Given the description of an element on the screen output the (x, y) to click on. 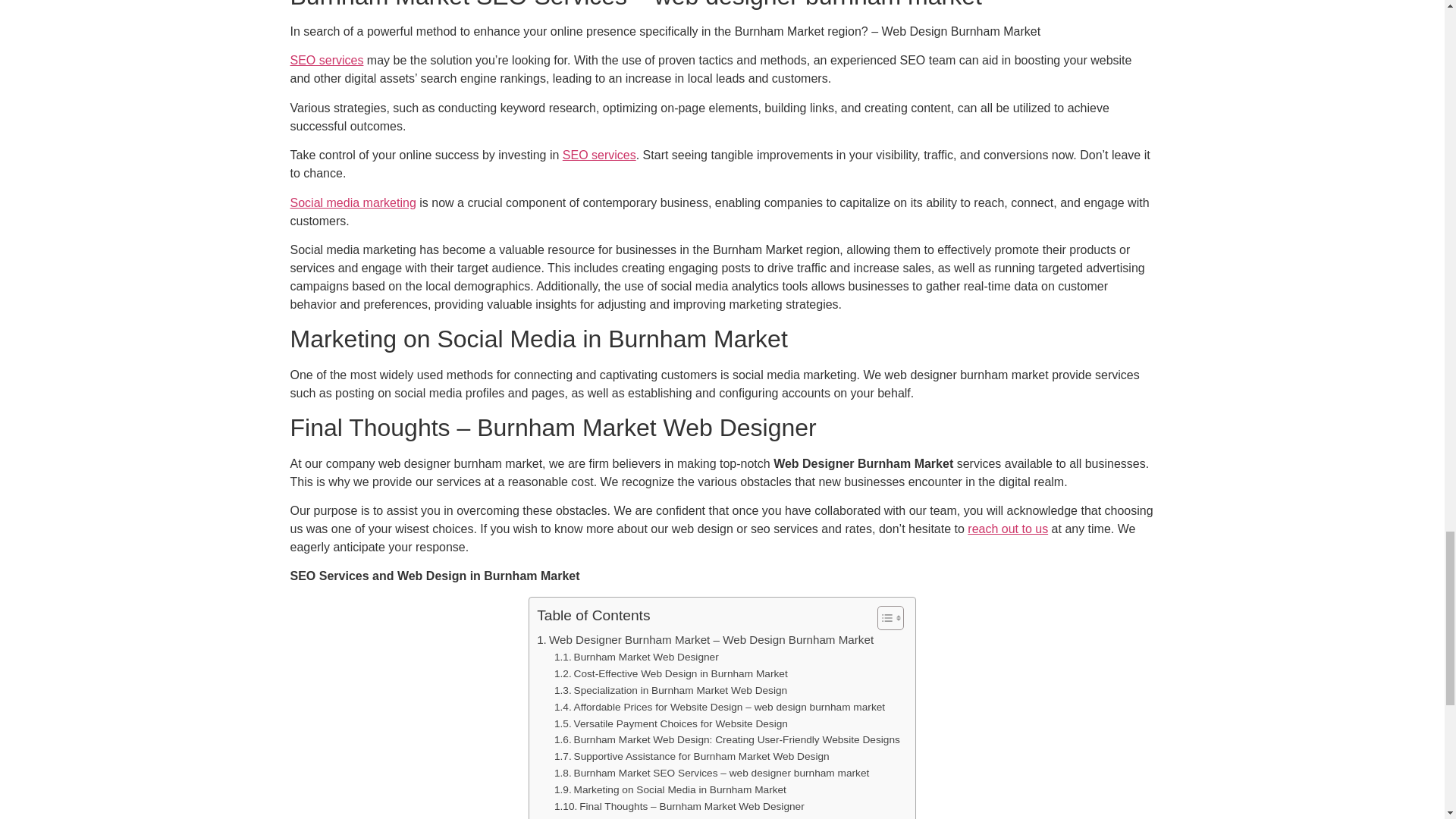
Cost-Effective Web Design in Burnham Market (670, 673)
Social Media Marketing (351, 202)
SEO services (325, 60)
Specialization in Burnham Market Web Design (670, 690)
SEO Services (599, 154)
Versatile Payment Choices for Website Design (670, 723)
Burnham Market Web Designer (636, 657)
